Given the description of an element on the screen output the (x, y) to click on. 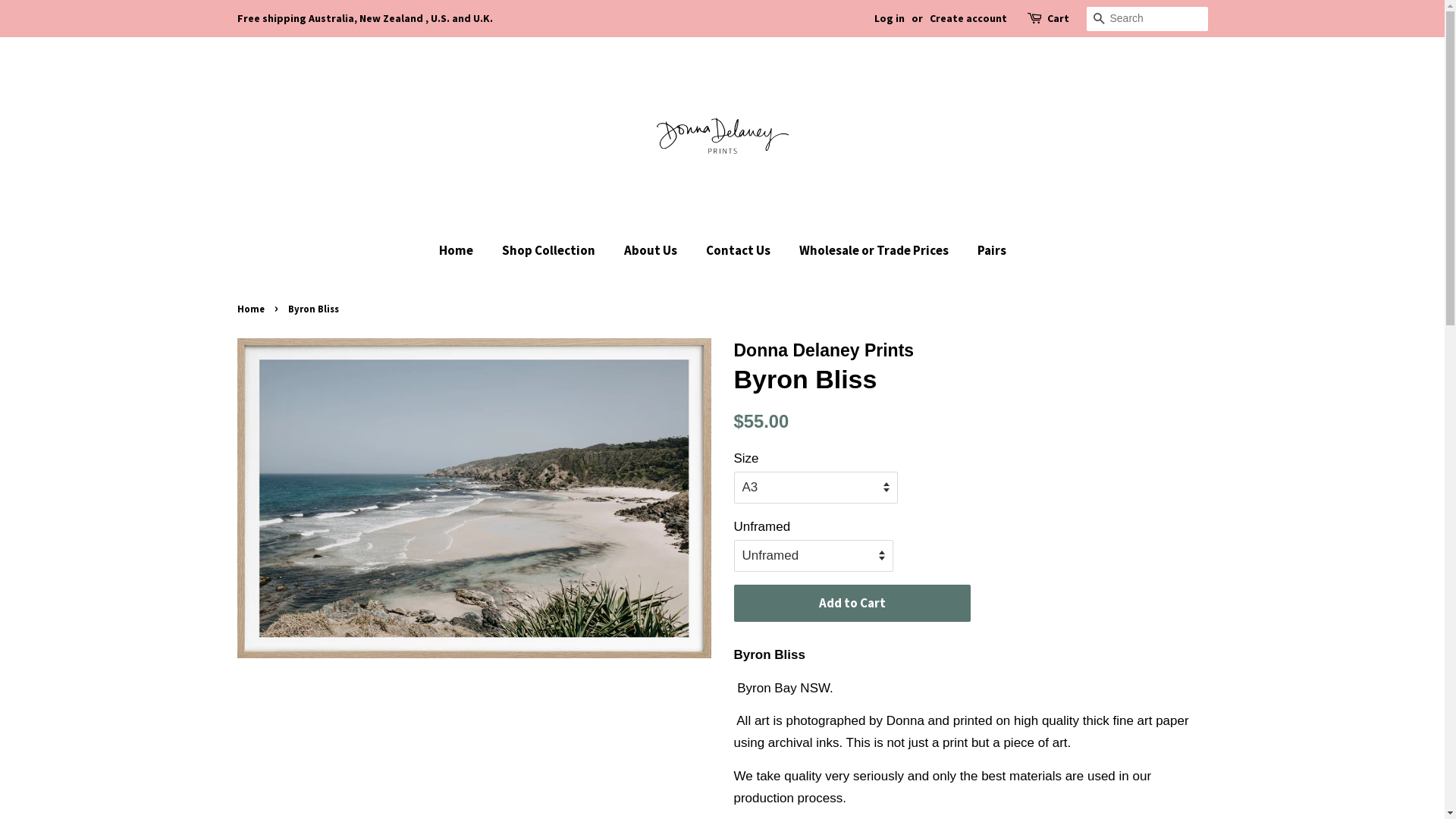
Search Element type: text (1097, 18)
Pairs Element type: text (986, 250)
Log in Element type: text (888, 18)
Cart Element type: text (1057, 18)
Contact Us Element type: text (739, 250)
Add to Cart Element type: text (852, 602)
Wholesale or Trade Prices Element type: text (875, 250)
About Us Element type: text (652, 250)
Home Element type: text (251, 308)
Create account Element type: text (968, 18)
Home Element type: text (462, 250)
Shop Collection Element type: text (549, 250)
